Given the description of an element on the screen output the (x, y) to click on. 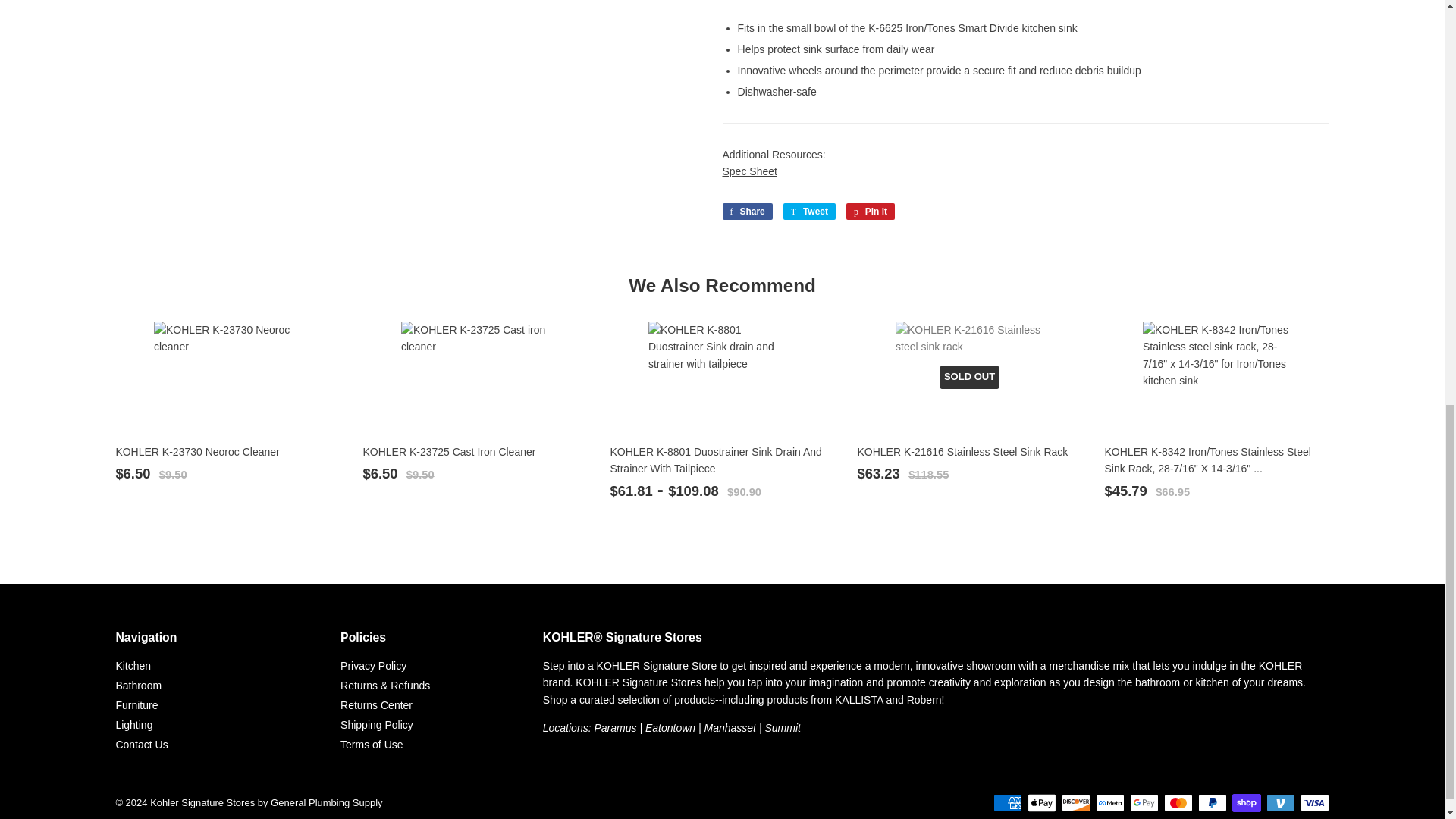
Visit the Kohler Signature Store (729, 727)
Discover (1075, 802)
Visa (1314, 802)
Google Pay (1143, 802)
Apple Pay (1042, 802)
Mastercard (1177, 802)
Shop Pay (1245, 802)
Visit the Kohler Signature Store (670, 727)
Pin on Pinterest (870, 211)
Visit the Kohler Signature Store (615, 727)
Share on Facebook (746, 211)
PayPal (1212, 802)
American Express (1007, 802)
Meta Pay (1110, 802)
Venmo (1280, 802)
